Given the description of an element on the screen output the (x, y) to click on. 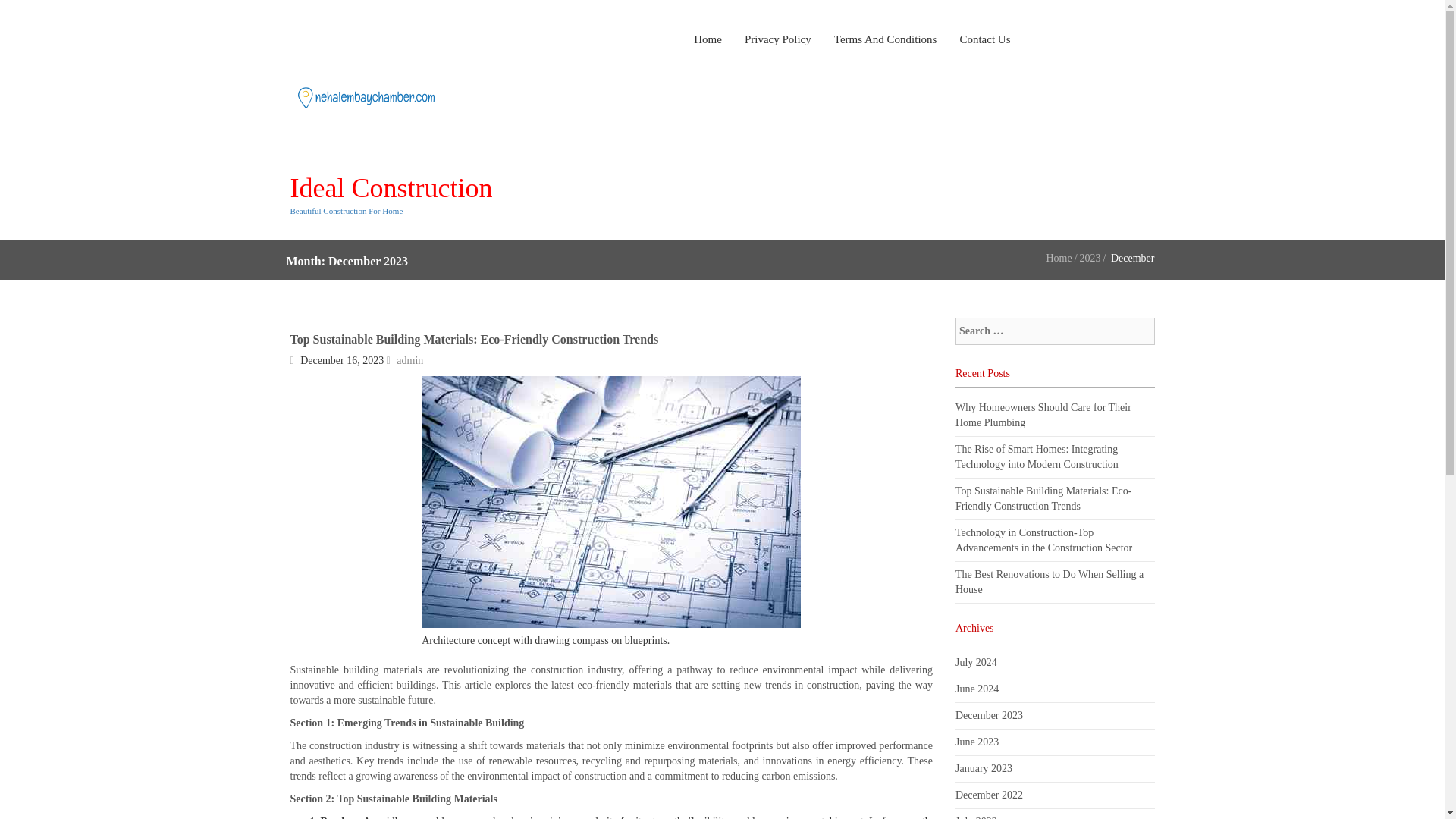
January 2023 (983, 767)
Privacy Policy (777, 38)
Ideal Construction (390, 187)
Contact Us (978, 38)
June 2023 (976, 741)
View all posts by admin (409, 360)
Beautiful Construction For Home (346, 210)
